Given the description of an element on the screen output the (x, y) to click on. 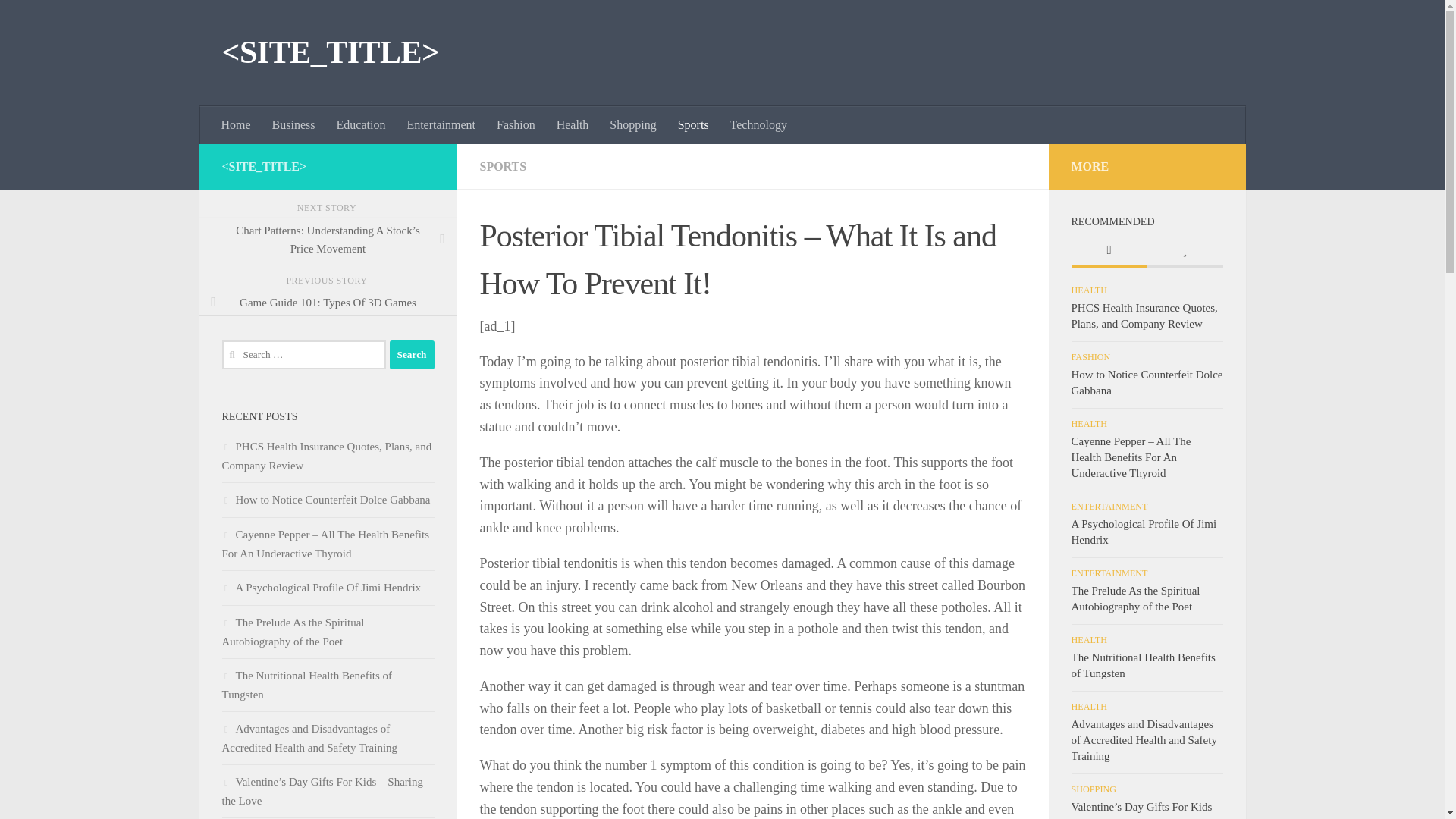
Technology (758, 125)
Search (411, 354)
Health (572, 125)
Sports (692, 125)
Game Guide 101: Types Of 3D Games (327, 302)
Shopping (632, 125)
PHCS Health Insurance Quotes, Plans, and Company Review (325, 455)
Permalink to How to Notice Counterfeit Dolce Gabbana (1146, 382)
How to Notice Counterfeit Dolce Gabbana (325, 499)
Home (236, 125)
Entertainment (441, 125)
Search (411, 354)
Education (361, 125)
Search (411, 354)
